Given the description of an element on the screen output the (x, y) to click on. 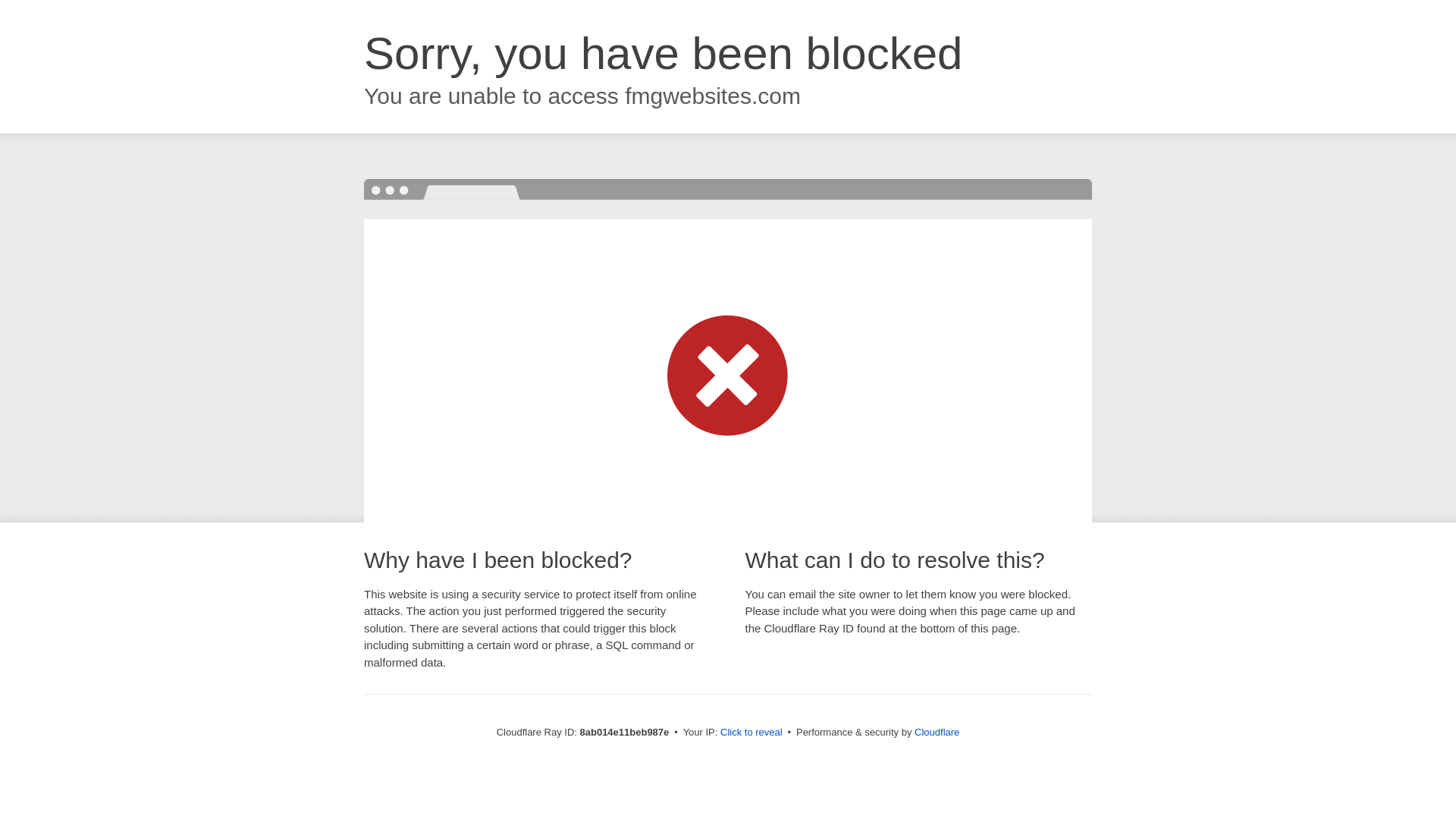
Cloudflare (936, 731)
Click to reveal (751, 732)
